Given the description of an element on the screen output the (x, y) to click on. 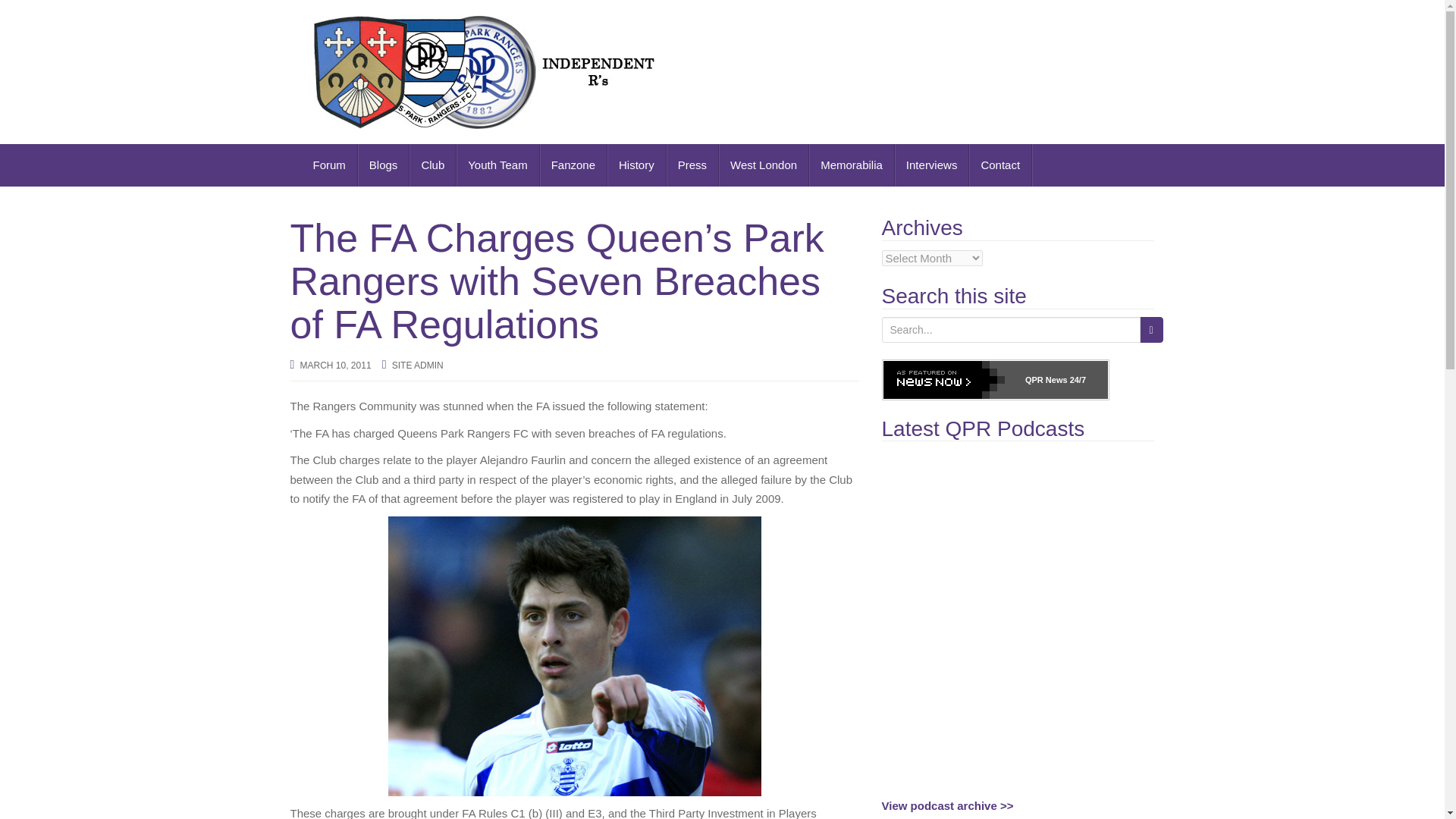
Blogs (384, 165)
Press (692, 165)
Contact (1000, 165)
Interviews (932, 165)
Youth Team (497, 165)
Click here for more QPR news from NewsNow (994, 379)
SITE ADMIN (417, 365)
MARCH 10, 2011 (335, 365)
History (636, 165)
Contact (1000, 165)
West London (764, 165)
Blogs (384, 165)
Forum (329, 165)
Memorabilia (852, 165)
Fanzone (573, 165)
